Given the description of an element on the screen output the (x, y) to click on. 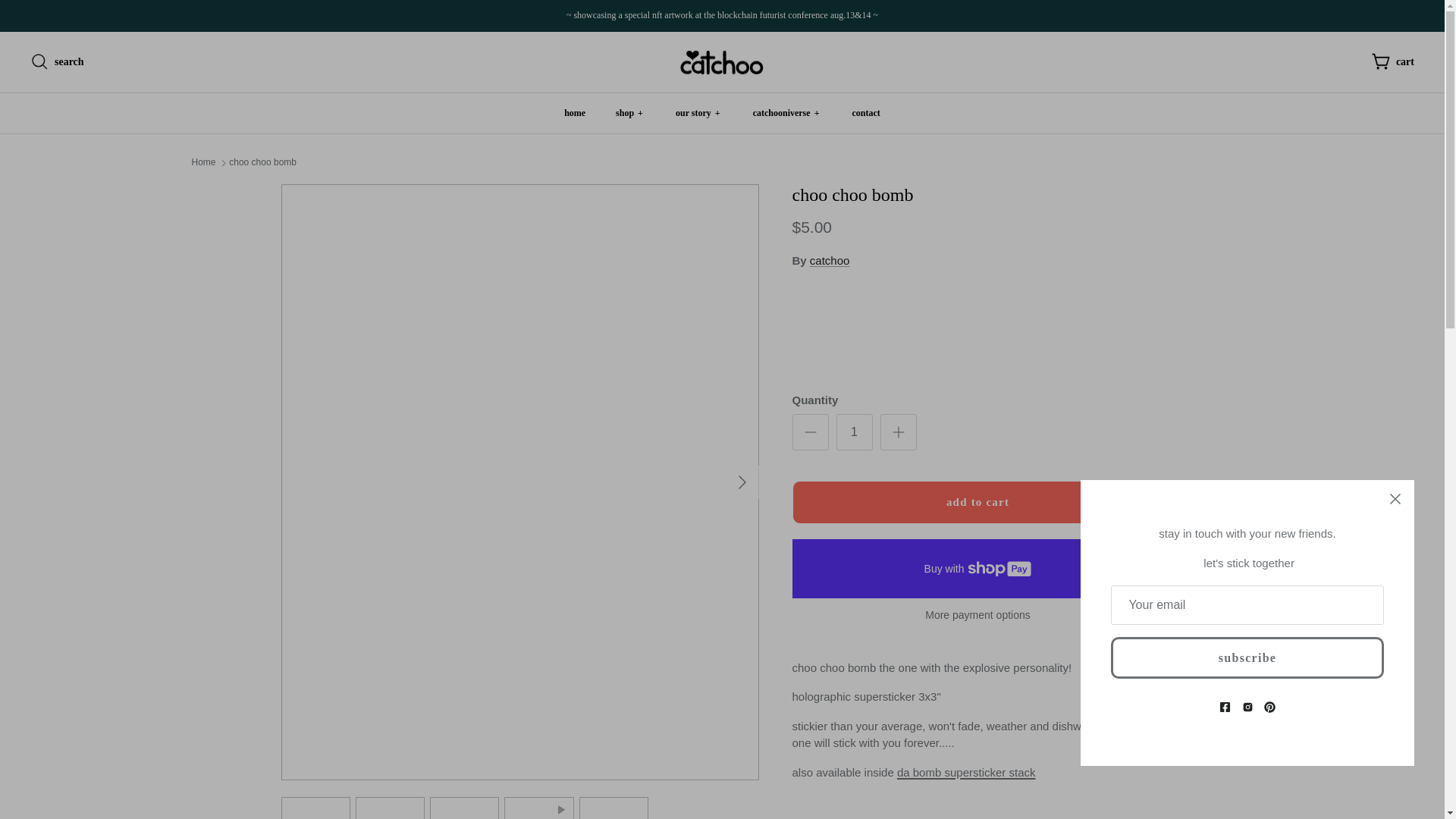
1 (853, 432)
Plus (897, 432)
contact (865, 113)
home (574, 113)
Catchoo (722, 61)
search (57, 62)
Minus (809, 432)
right (741, 482)
